Given the description of an element on the screen output the (x, y) to click on. 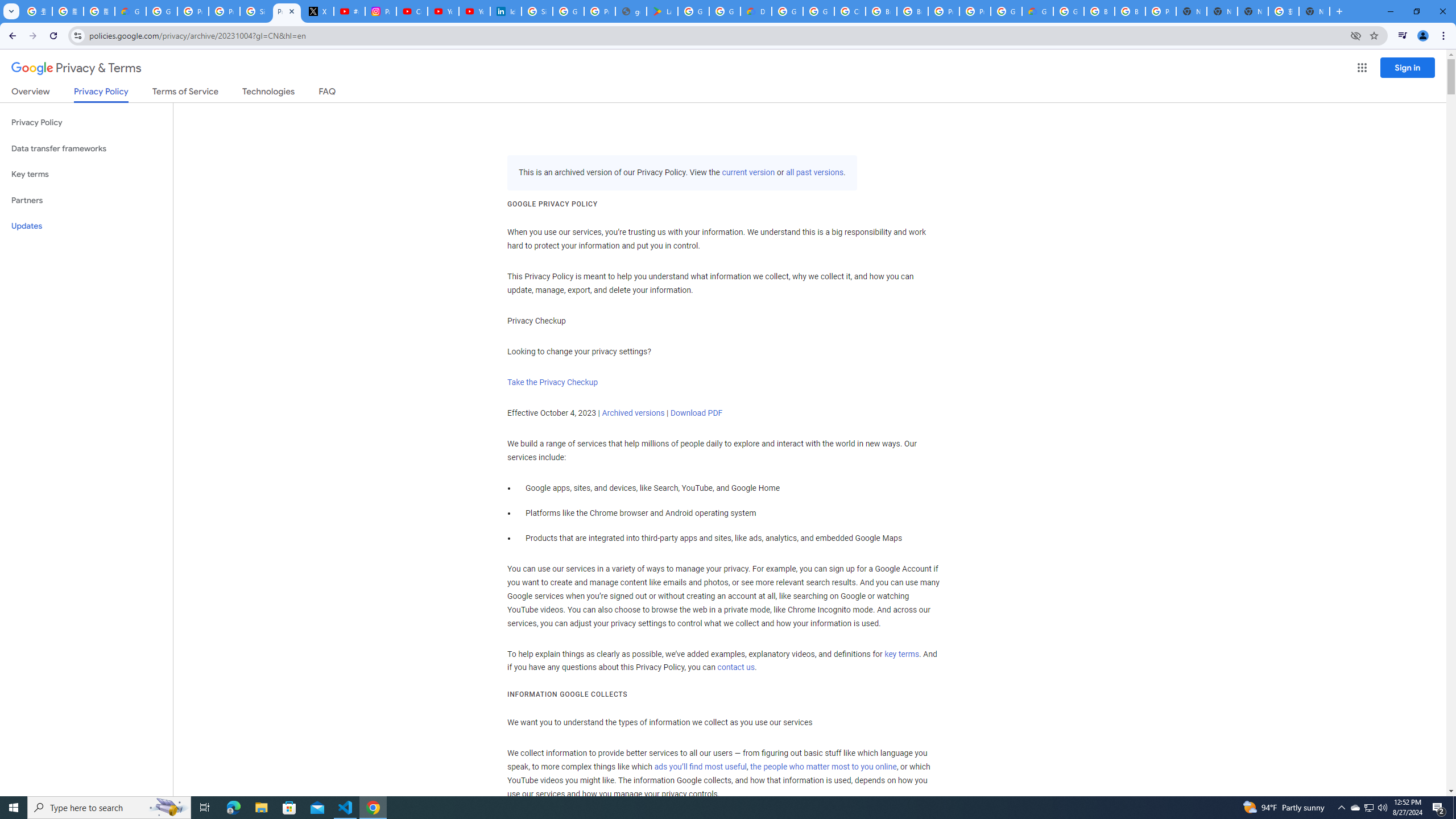
the people who matter most to you online (822, 766)
Google Cloud Platform (1005, 11)
Google Cloud Privacy Notice (130, 11)
FAQ (327, 93)
Archived versions (633, 412)
Updates (86, 225)
Take the Privacy Checkup (552, 381)
Privacy & Terms (76, 68)
